Given the description of an element on the screen output the (x, y) to click on. 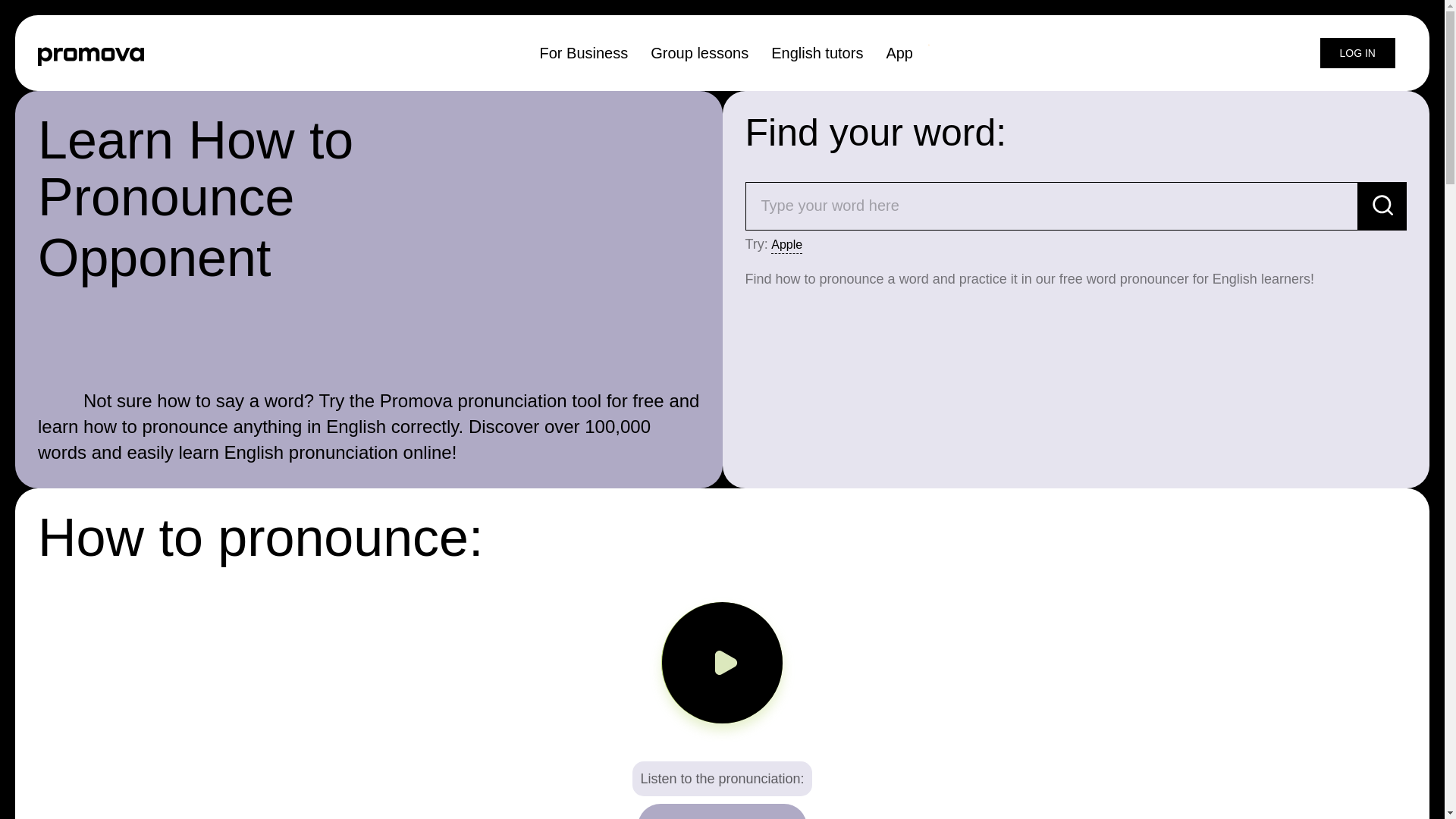
LOG IN (1357, 52)
English tutors (817, 52)
App (898, 52)
Group lessons (699, 52)
Apple (786, 244)
For Business (584, 52)
